Given the description of an element on the screen output the (x, y) to click on. 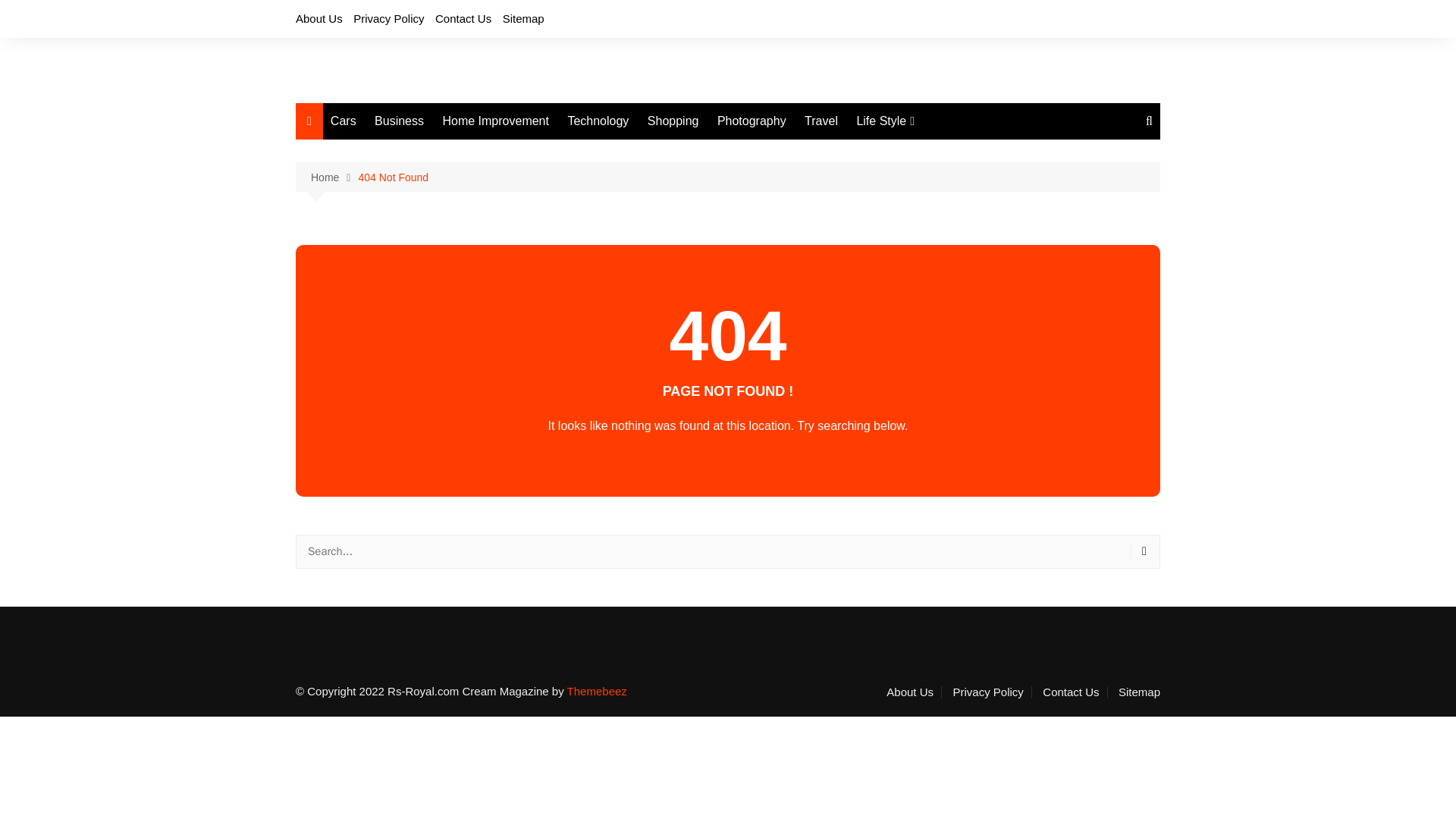
Technology (597, 121)
Photography (751, 121)
Themebeez (597, 690)
Travel (820, 121)
Fashion (931, 151)
Privacy Policy (991, 692)
About Us (914, 692)
Privacy Policy (388, 18)
Business (398, 121)
Life Style (884, 121)
Shopping (673, 121)
Home (334, 177)
About Us (318, 18)
404 Not Found (393, 176)
Contact Us (463, 18)
